Given the description of an element on the screen output the (x, y) to click on. 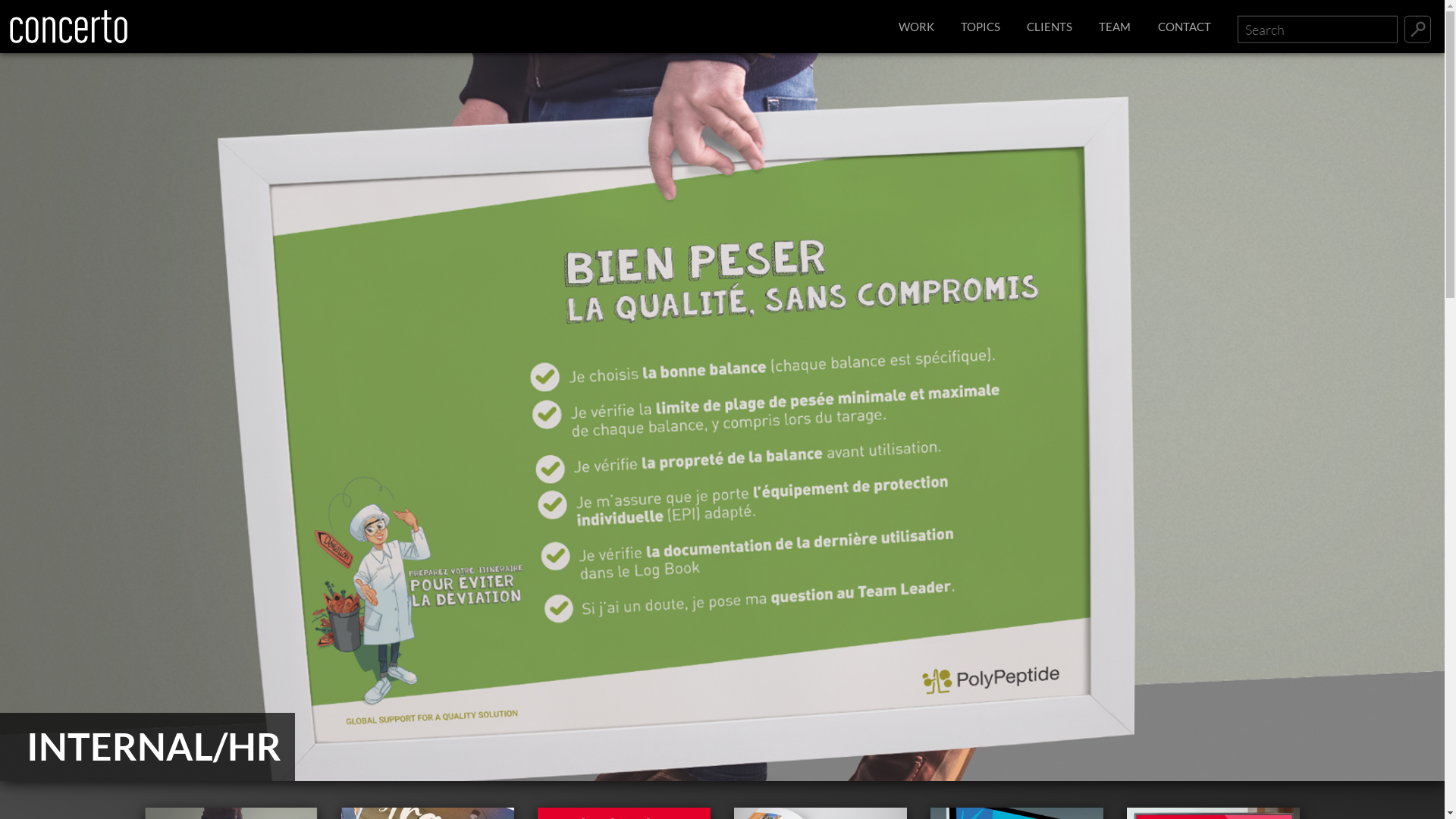
TOPICS Element type: text (980, 26)
INTERNAL/HR Element type: text (722, 417)
CLIENTS Element type: text (1049, 26)
CONTACT Element type: text (1184, 26)
WORK Element type: text (916, 26)
TEAM Element type: text (1114, 26)
